Given the description of an element on the screen output the (x, y) to click on. 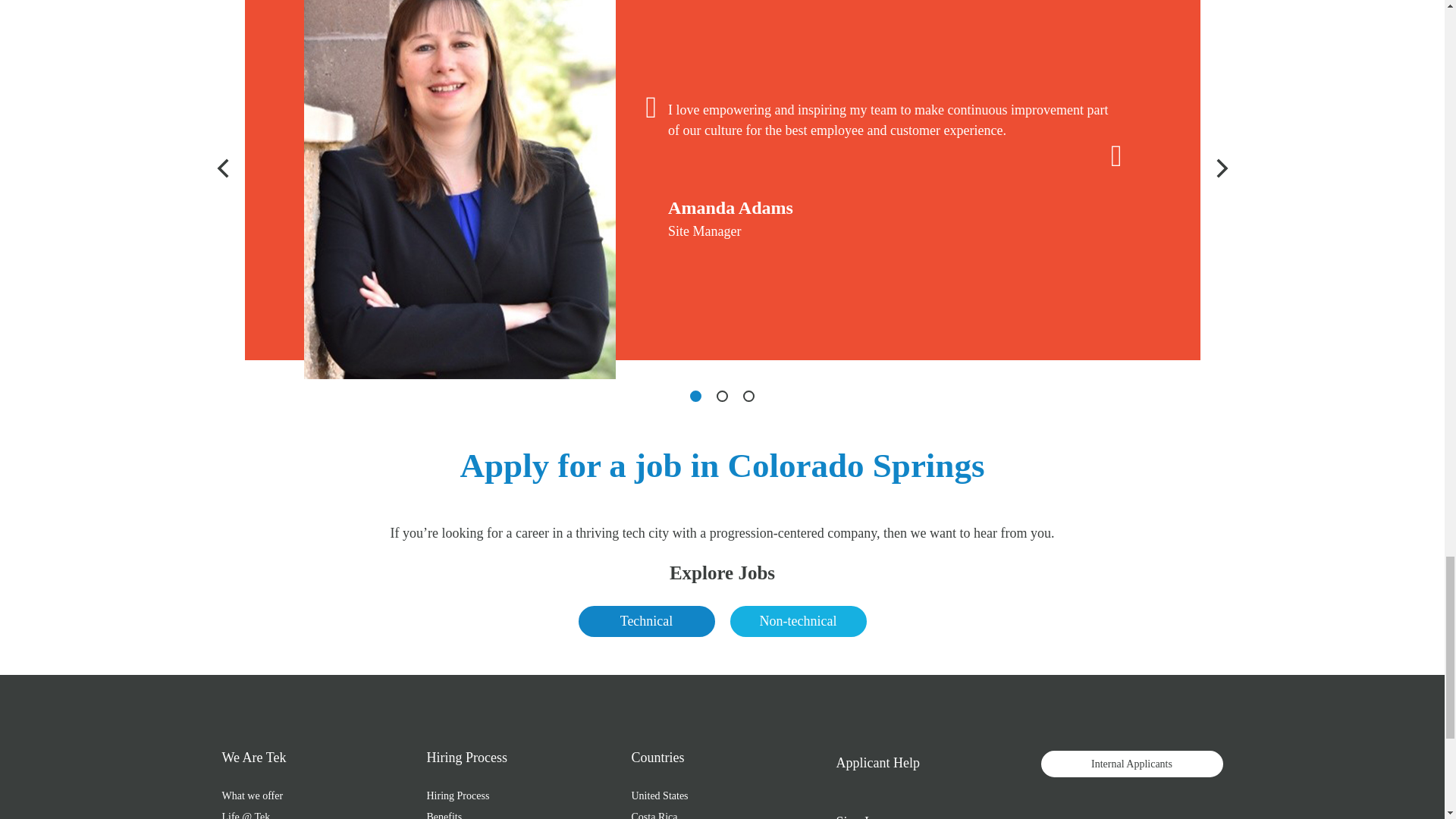
Costa Rica (653, 812)
What we offer (251, 795)
Benefits (443, 812)
Non-technical (797, 621)
Technical (646, 621)
United States (658, 795)
Hiring Process (457, 795)
